Given the description of an element on the screen output the (x, y) to click on. 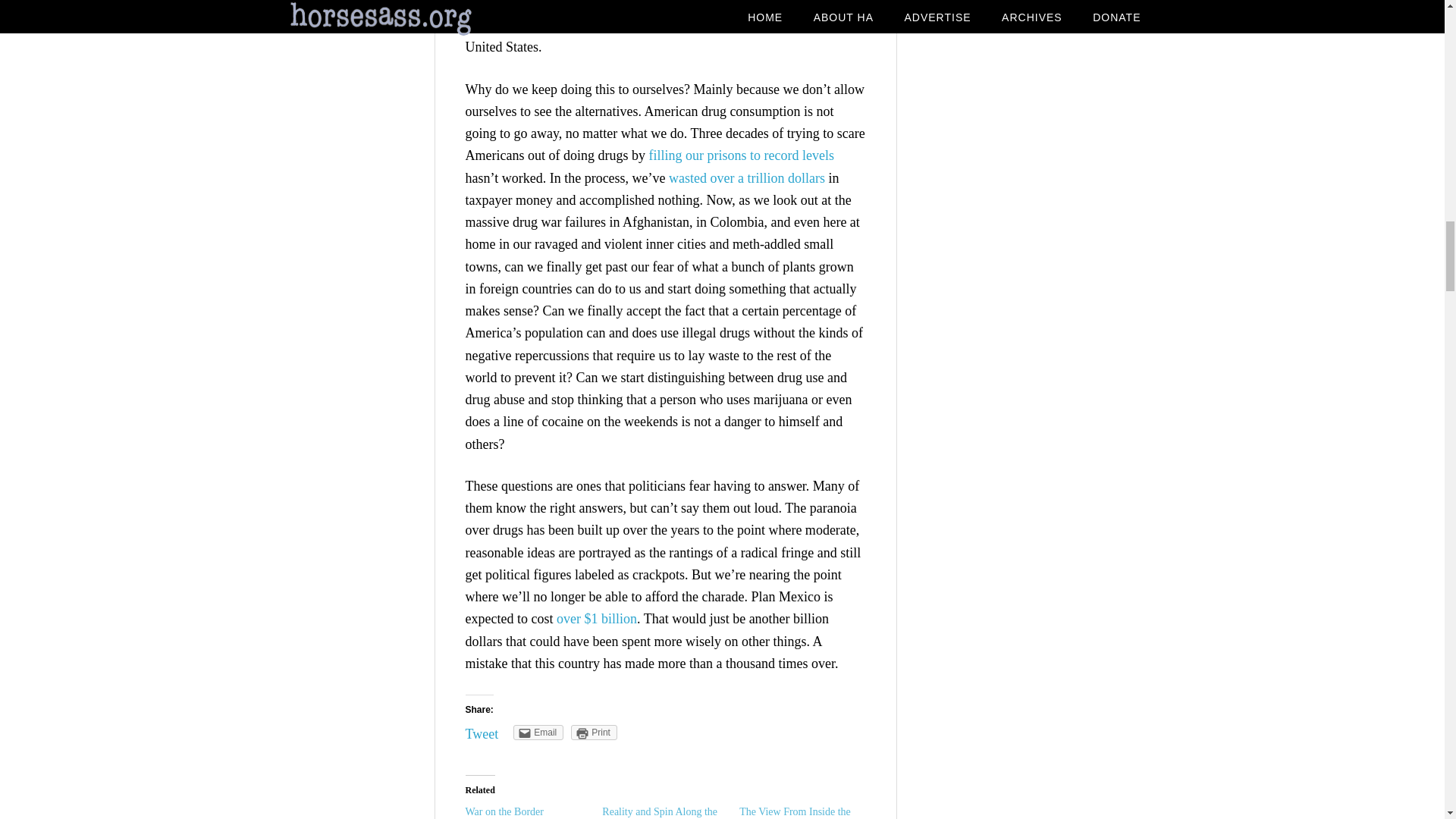
War on the Border (504, 811)
The View From Inside the Bubble (794, 812)
Print (593, 732)
Email (538, 732)
Click to email a link to a friend (538, 732)
War on the Border (504, 811)
filling our prisons to record levels (739, 155)
Click to print (593, 732)
wasted over a trillion dollars (746, 177)
The View From Inside the Bubble (794, 812)
